Given the description of an element on the screen output the (x, y) to click on. 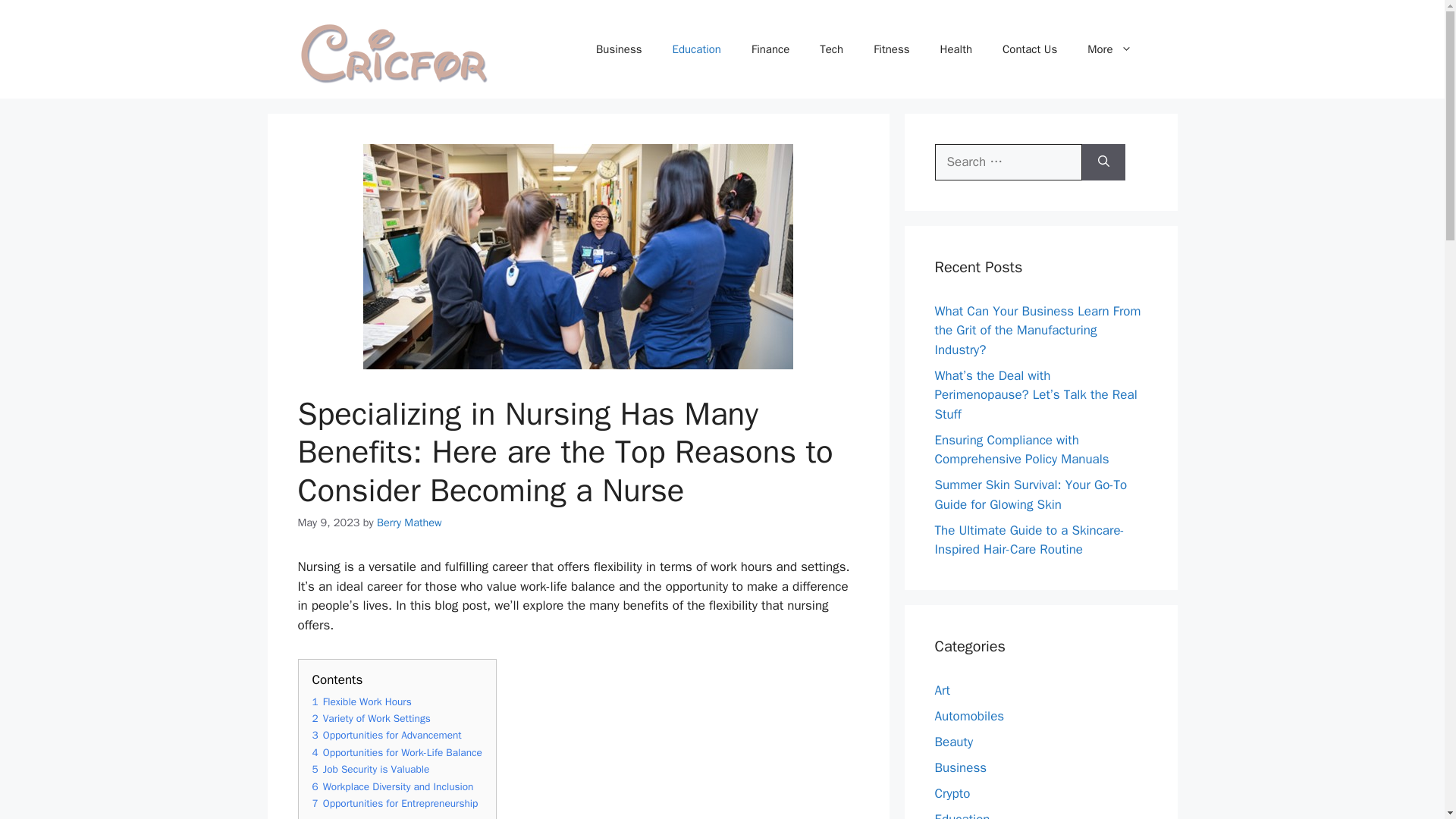
Tech (832, 49)
The Ultimate Guide to a Skincare-Inspired Hair-Care Routine (1029, 539)
Finance (770, 49)
Education (697, 49)
View all posts by Berry Mathew (409, 522)
Berry Mathew (409, 522)
Art (941, 690)
7 Opportunities for Entrepreneurship (396, 802)
Summer Skin Survival: Your Go-To Guide for Glowing Skin (1030, 494)
6 Workplace Diversity and Inclusion (393, 786)
Business (619, 49)
More (1109, 49)
Automobiles (969, 715)
Fitness (891, 49)
2 Variety of Work Settings (371, 717)
